Given the description of an element on the screen output the (x, y) to click on. 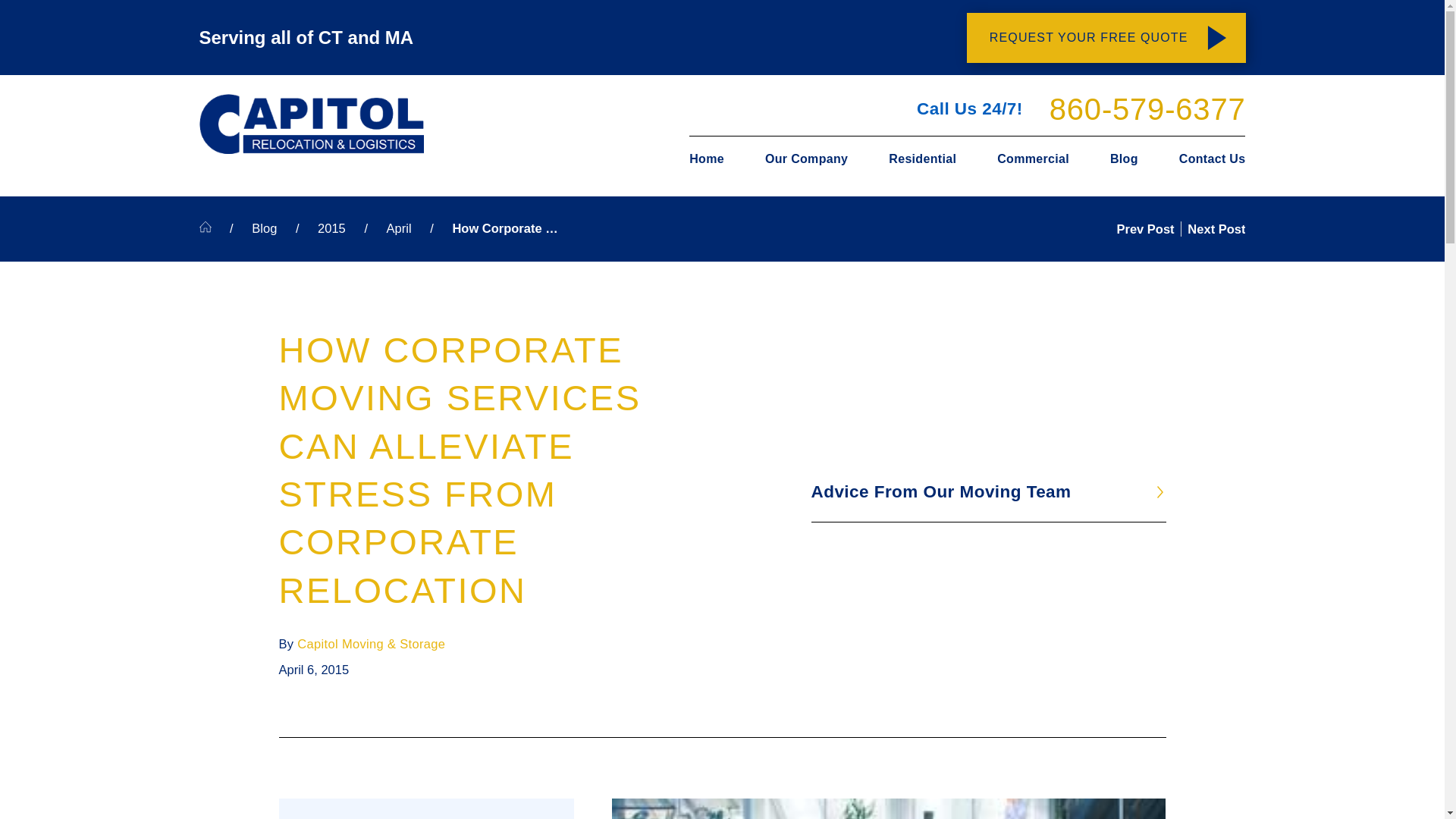
Our Company (805, 158)
Commercial (1032, 158)
Blog (1123, 158)
Home (716, 158)
REQUEST YOUR FREE QUOTE (1106, 37)
Residential (921, 158)
860-579-6377 (1147, 109)
